Given the description of an element on the screen output the (x, y) to click on. 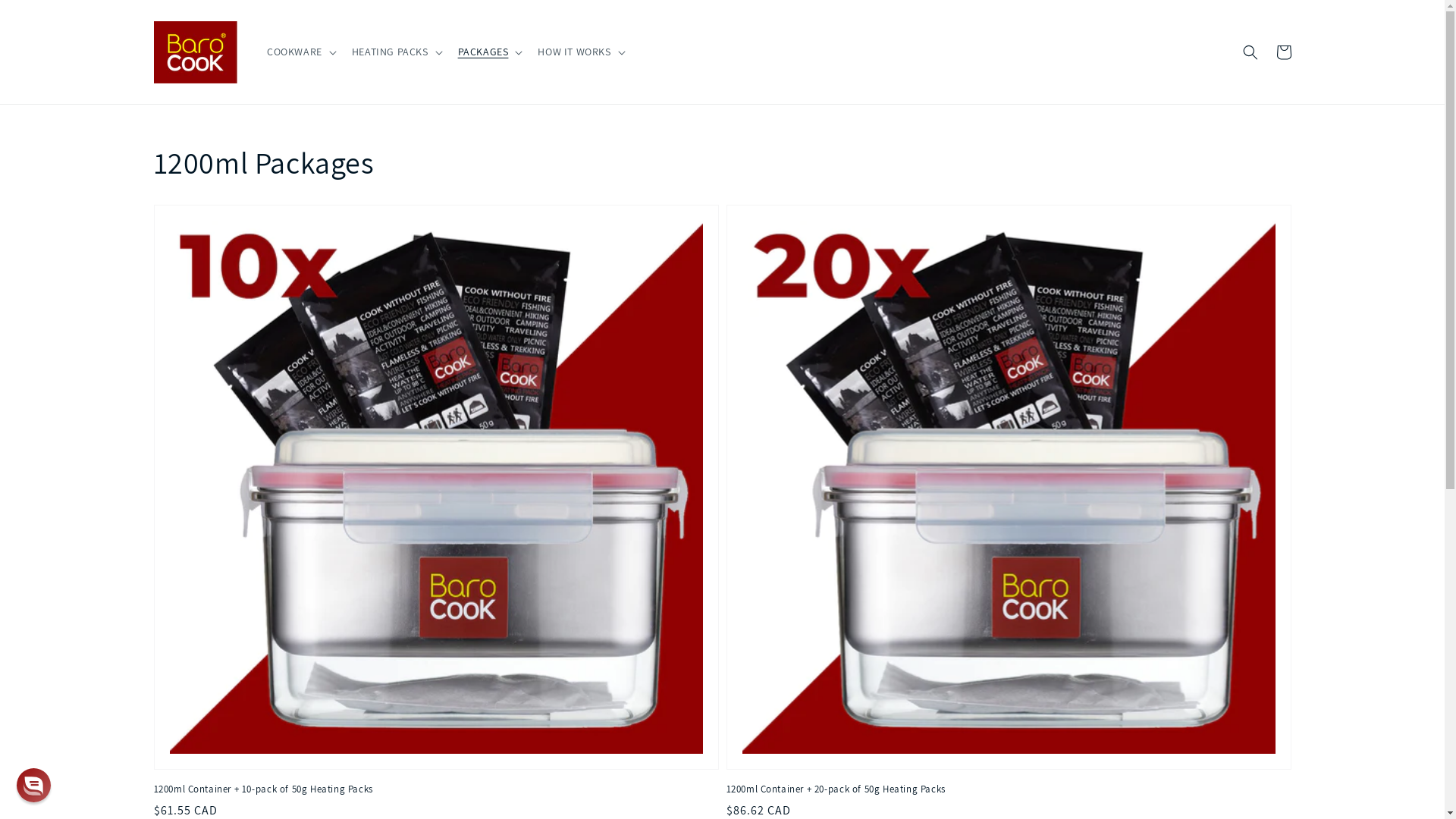
1200ml Container + 20-pack of 50g Heating Packs Element type: text (1004, 789)
Cart Element type: text (1282, 51)
1200ml Container + 10-pack of 50g Heating Packs Element type: text (431, 789)
